Given the description of an element on the screen output the (x, y) to click on. 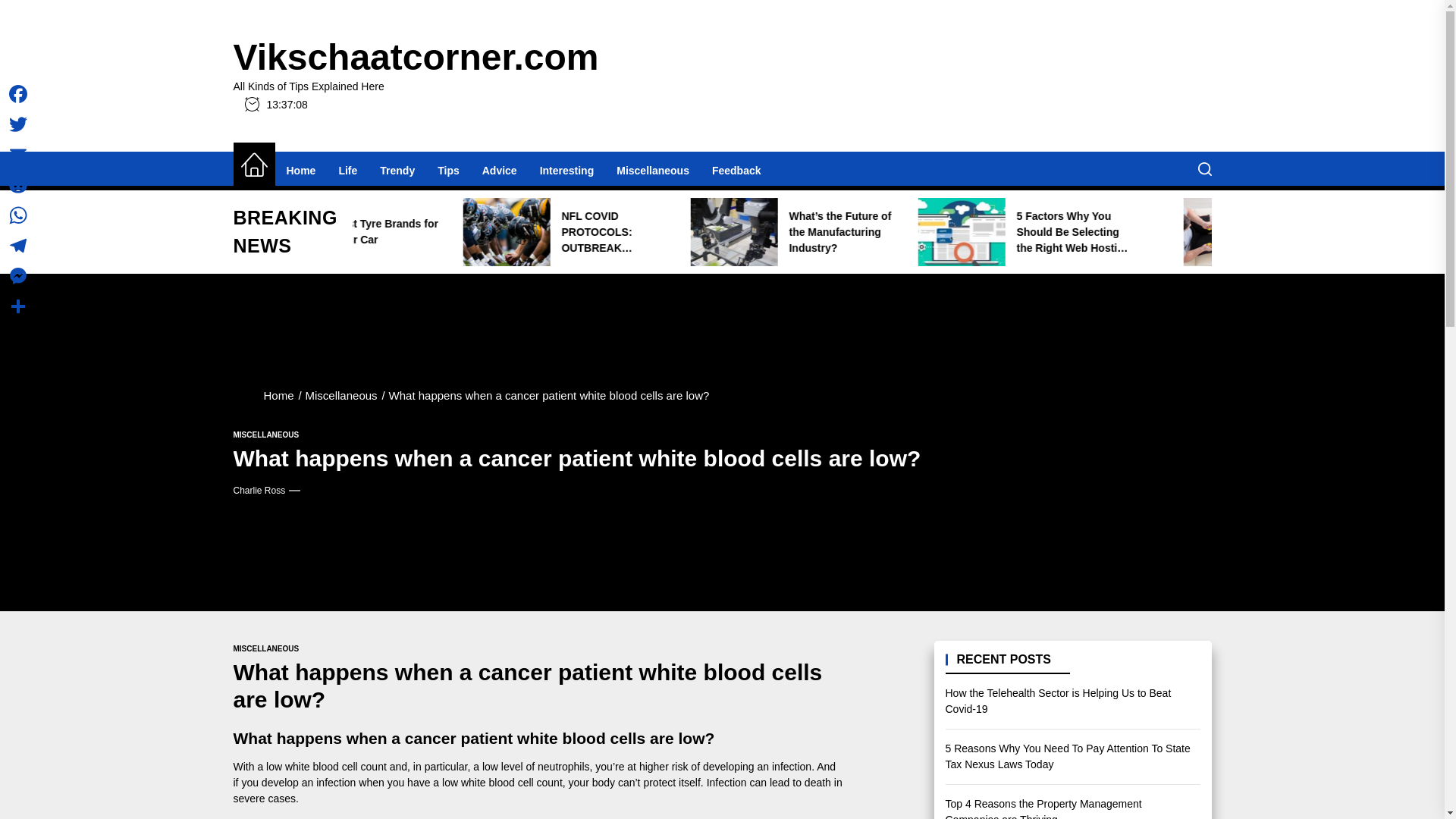
Feedback (736, 170)
NFL COVID PROTOCOLS: OUTBREAK POSTPONES STEELERS-TITANS (810, 232)
Best Tyre Brands for Your Car (560, 232)
Miscellaneous (652, 170)
Home (300, 170)
Vikschaatcorner.com (415, 57)
Home (253, 165)
5 Advantages Of In-Home Therapy And Rehabilitation (335, 232)
NFL COVID PROTOCOLS: OUTBREAK POSTPONES STEELERS-TITANS (785, 232)
5 Advantages Of In-Home Therapy And Rehabilitation (360, 232)
Interesting (566, 170)
Best Tyre Brands for Your Car (584, 232)
Advice (499, 170)
Life (347, 170)
Trendy (397, 170)
